Given the description of an element on the screen output the (x, y) to click on. 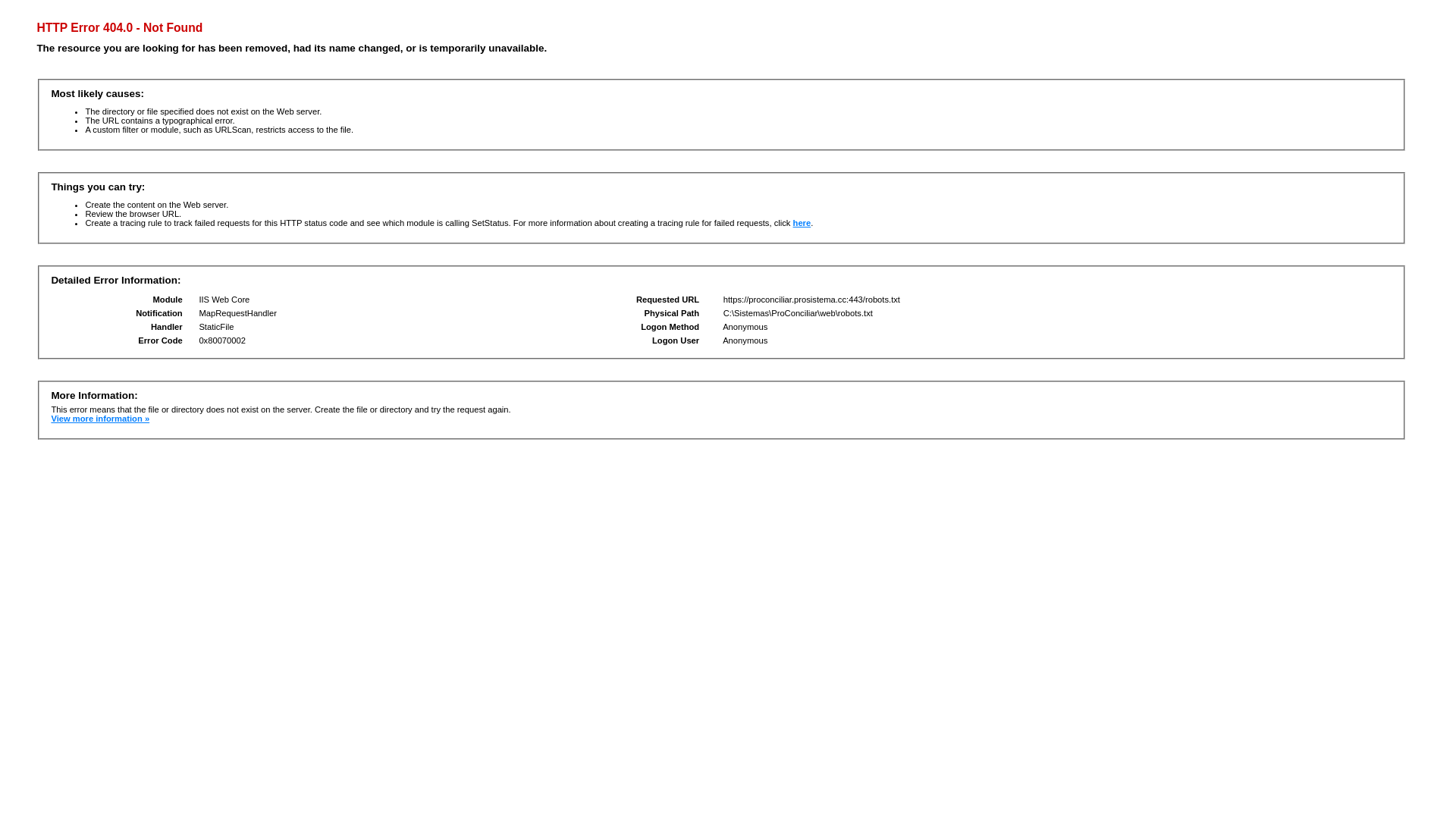
here Element type: text (802, 222)
